Given the description of an element on the screen output the (x, y) to click on. 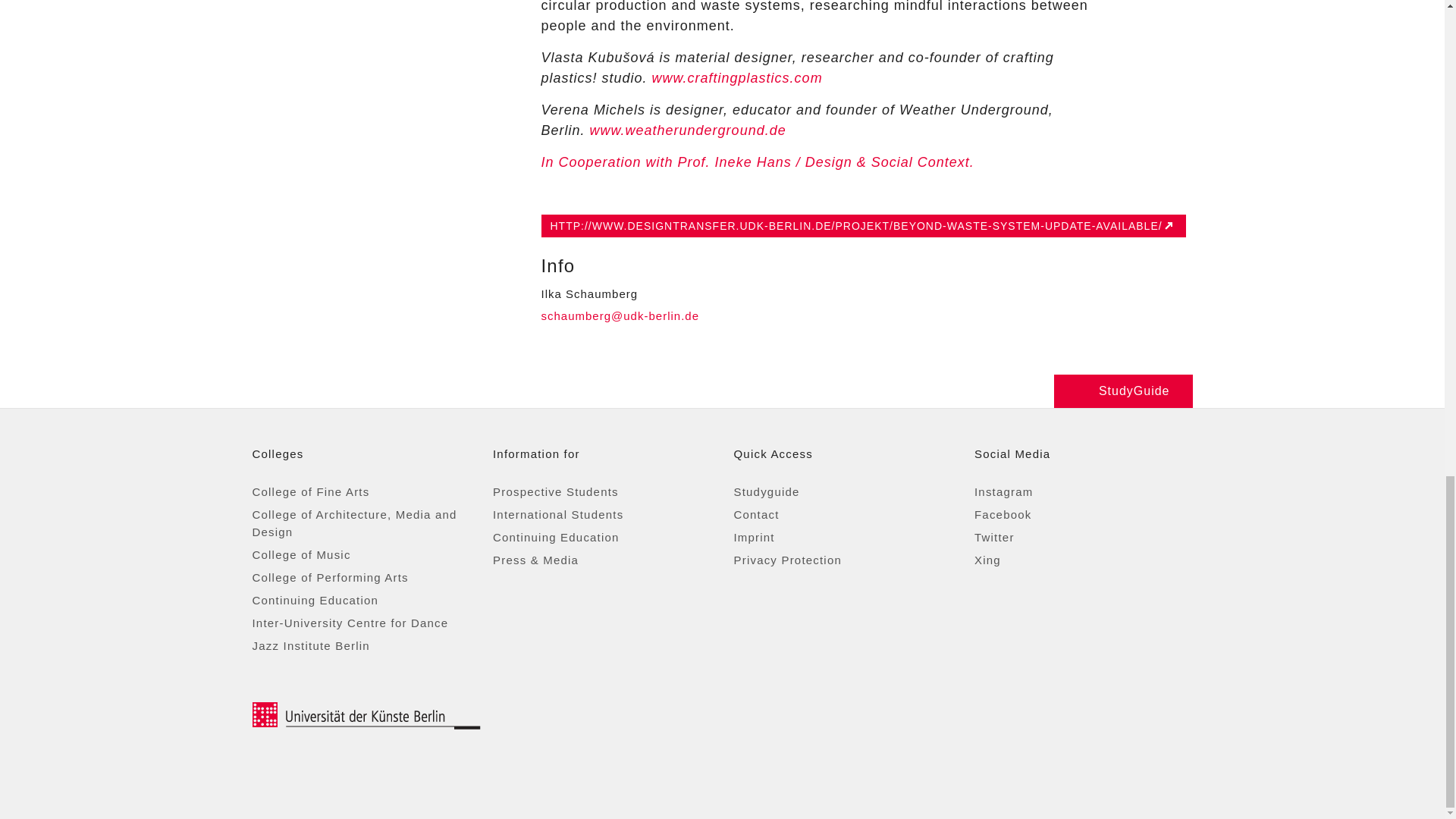
www.craftingplastics.com (737, 77)
www.weatherunderground.de (687, 130)
